Given the description of an element on the screen output the (x, y) to click on. 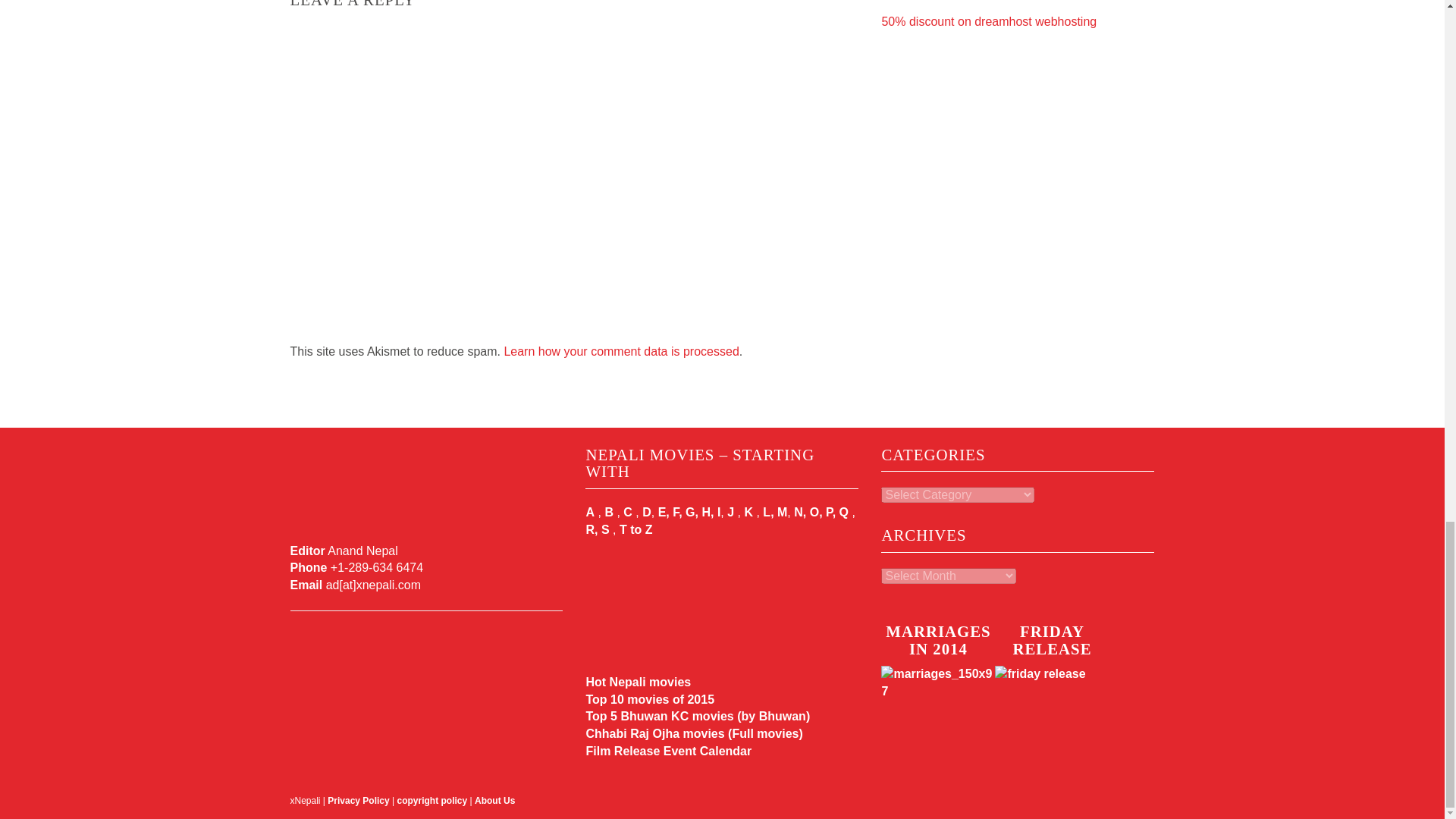
friday release (1051, 702)
